Given the description of an element on the screen output the (x, y) to click on. 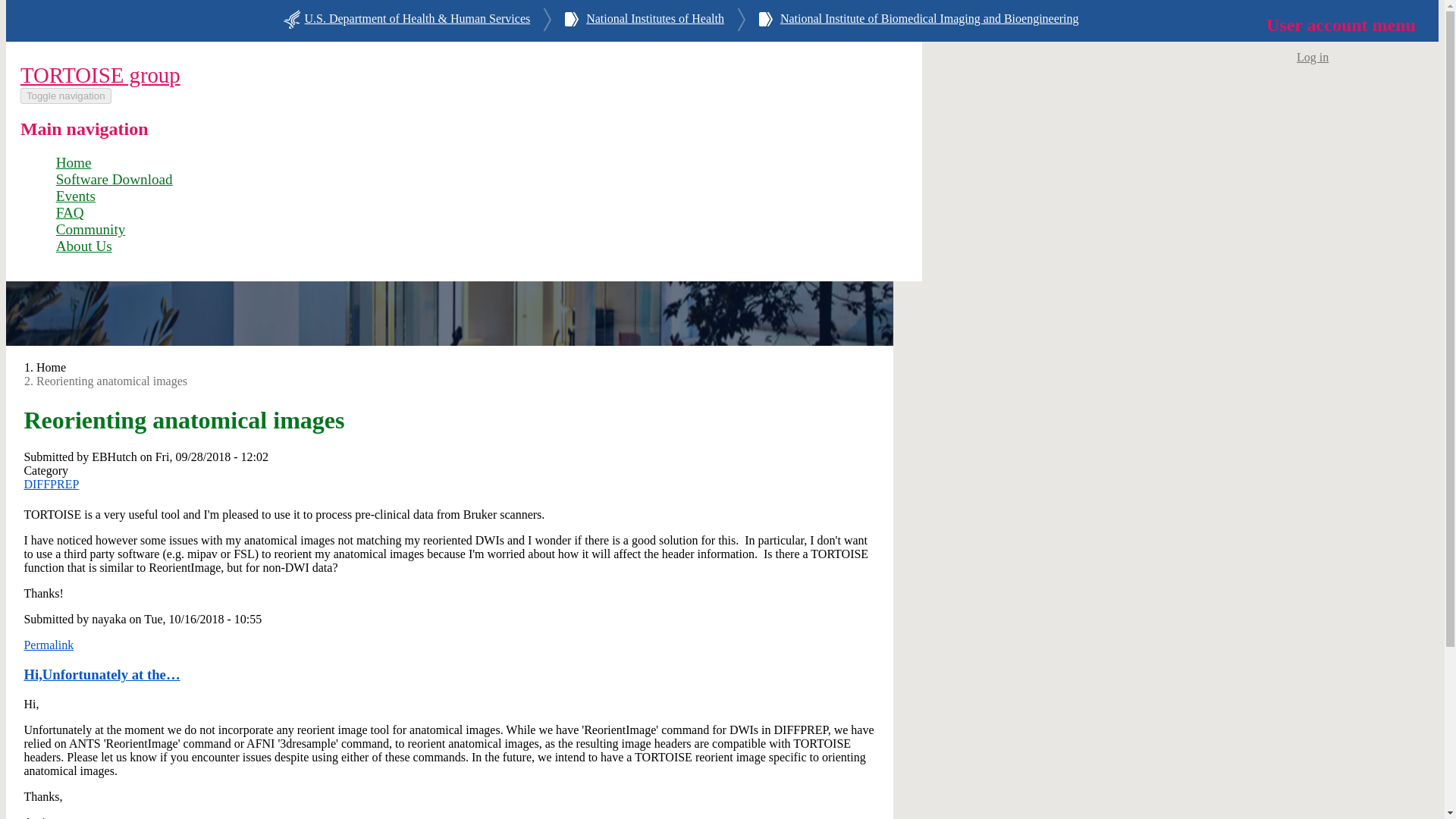
FAQ (70, 212)
Friday, September 28, 2018 - 12:02 (211, 456)
DIFFPREP (50, 483)
National Institute of Biomedical Imaging and Bioengineering (929, 21)
National Institutes of Health (654, 21)
Community (90, 229)
Home (100, 74)
About Us (84, 245)
Home (73, 162)
Software Download (114, 179)
Toggle navigation (66, 95)
Log in (1312, 55)
Events (76, 195)
TORTOISE group (100, 74)
Permalink (48, 644)
